Given the description of an element on the screen output the (x, y) to click on. 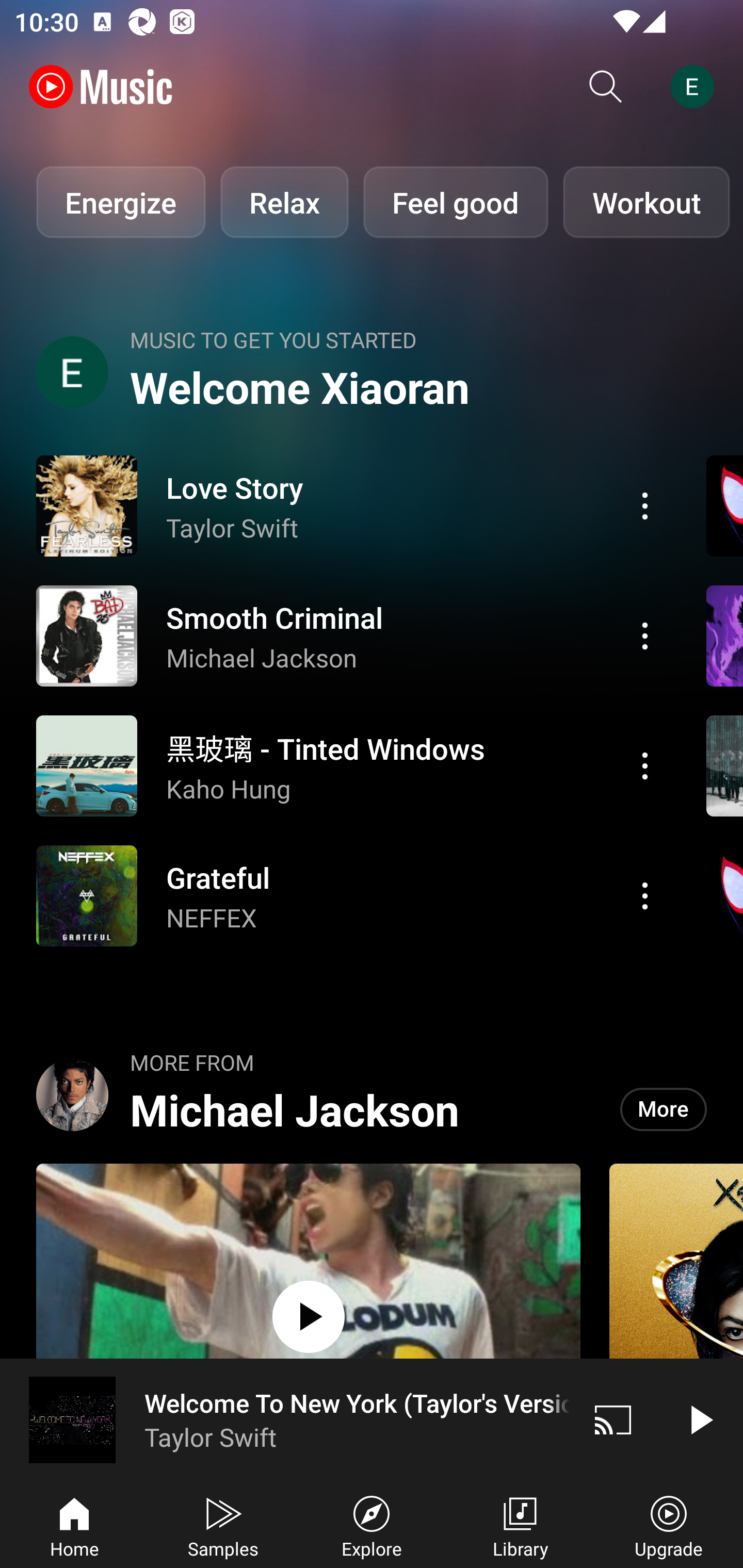
Search (605, 86)
Account (696, 86)
Action menu (349, 505)
Action menu (644, 505)
Action menu (349, 635)
Action menu (644, 635)
Action menu (349, 765)
Action menu (644, 765)
Action menu (349, 896)
Action menu (644, 896)
Cast. Disconnected (612, 1419)
Play video (699, 1419)
Home (74, 1524)
Samples (222, 1524)
Explore (371, 1524)
Library (519, 1524)
Upgrade (668, 1524)
